Given the description of an element on the screen output the (x, y) to click on. 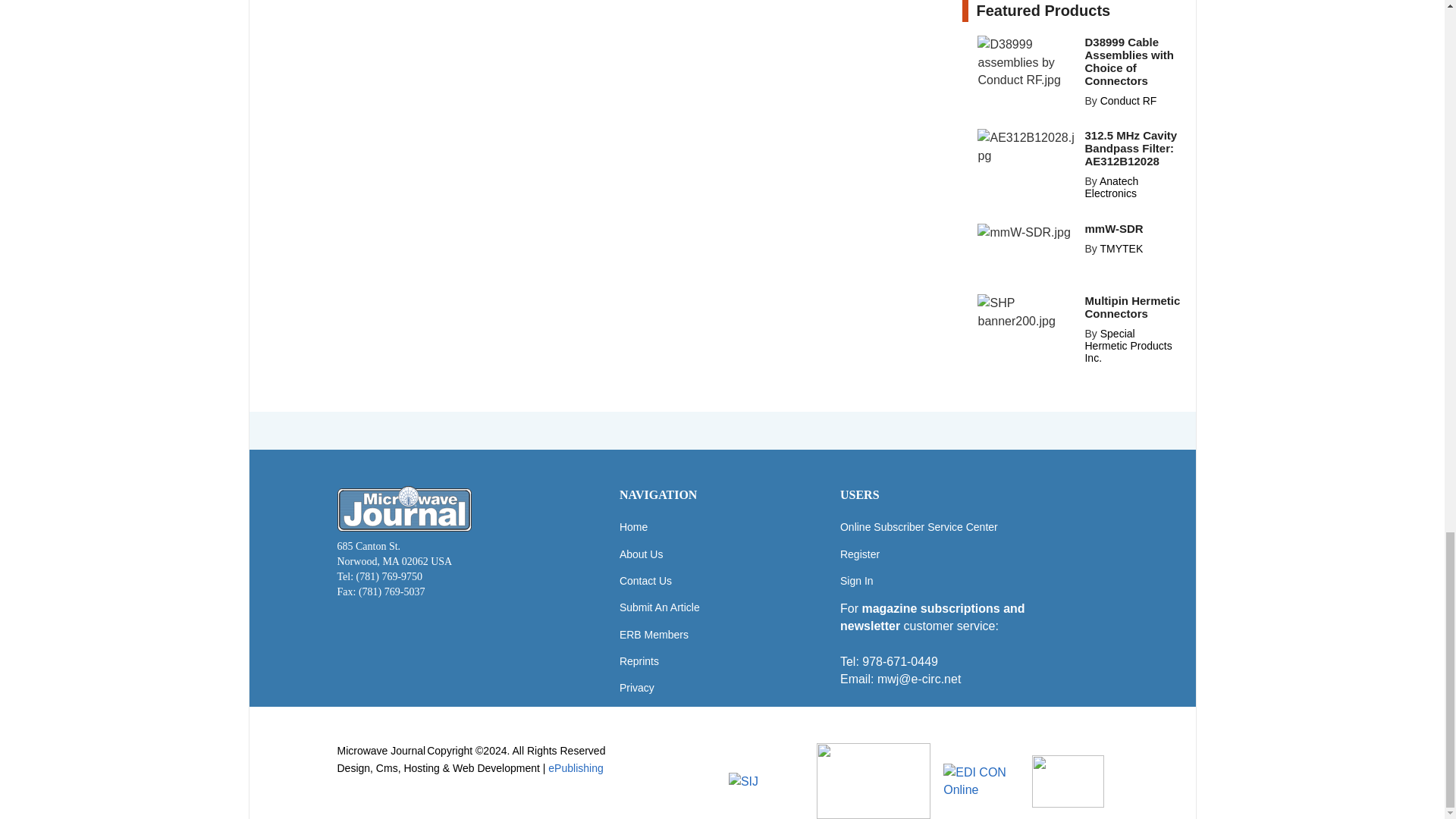
AE312B12028.jpg (1025, 145)
mmW-SDR.jpg (1023, 231)
SHP banner200.jpg (1025, 311)
D38999 assemblies by Conduct RF.jpg (1025, 62)
